Given the description of an element on the screen output the (x, y) to click on. 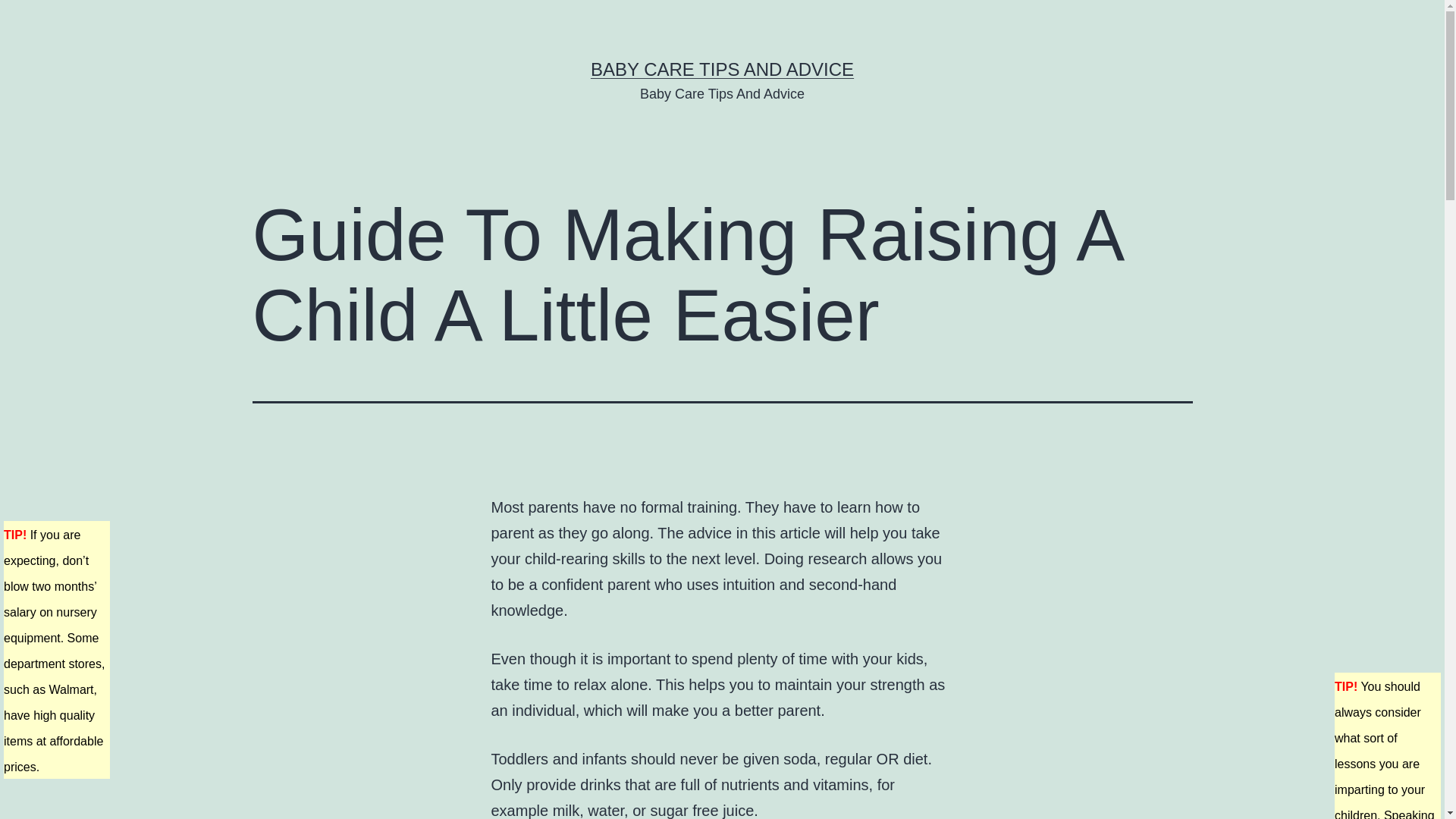
BABY CARE TIPS AND ADVICE (722, 68)
